Given the description of an element on the screen output the (x, y) to click on. 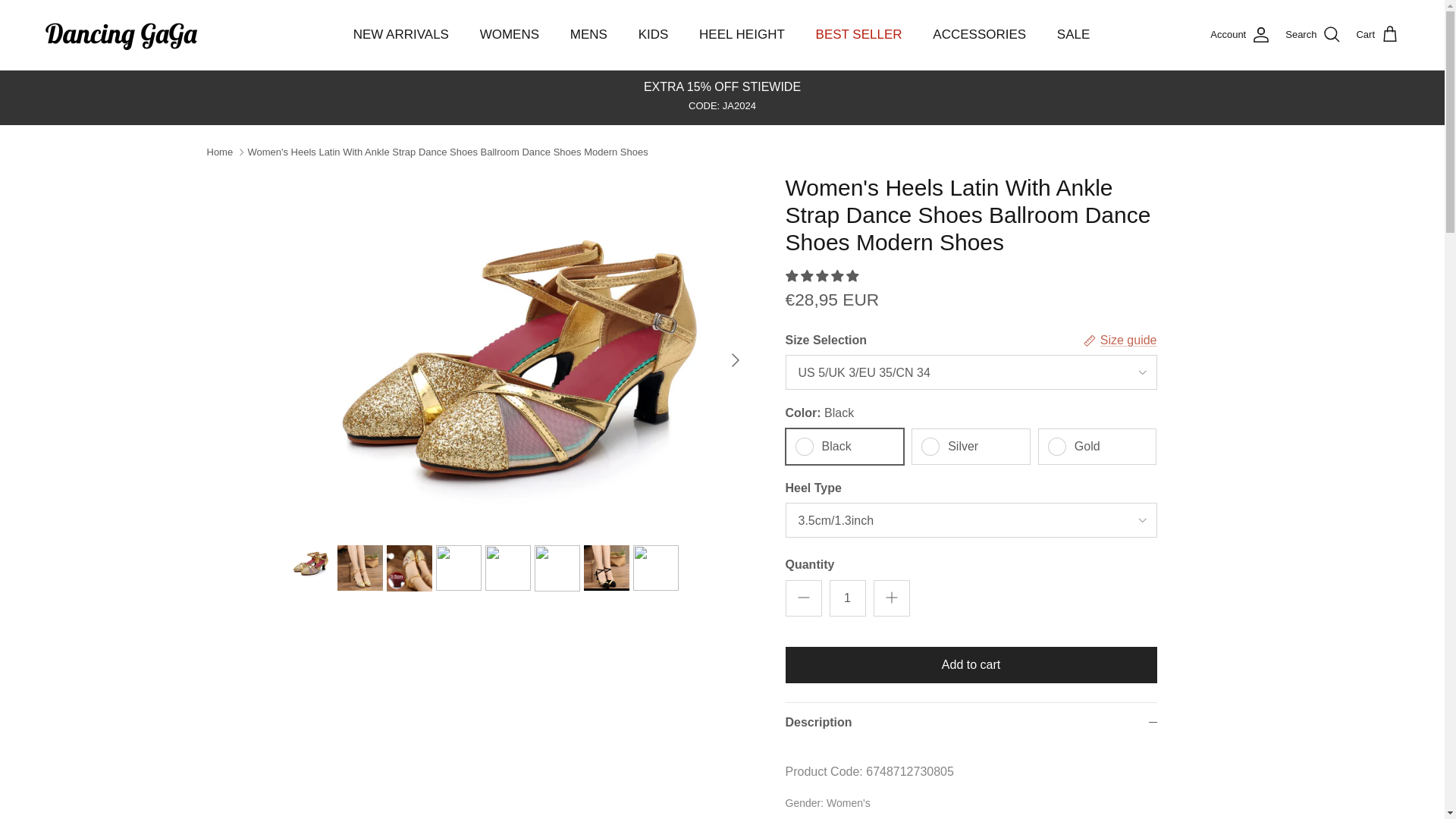
MENS (588, 34)
Dancing GaGa (120, 34)
BEST SELLER (858, 34)
1 (847, 597)
Account (1239, 34)
SALE (1073, 34)
ACCESSORIES (978, 34)
HEEL HEIGHT (741, 34)
WOMENS (509, 34)
NEW ARRIVALS (401, 34)
